Given the description of an element on the screen output the (x, y) to click on. 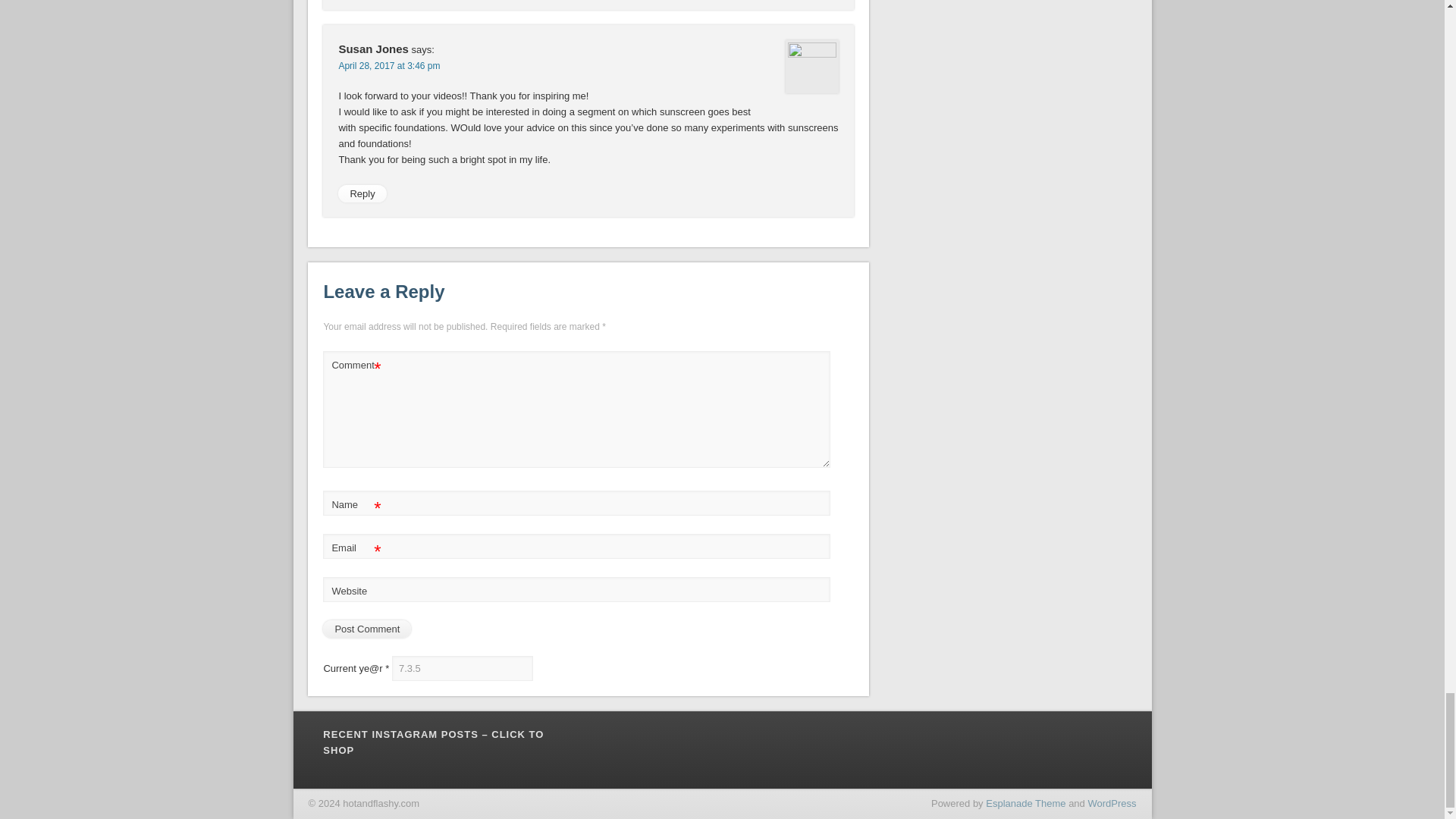
WordPress (1111, 803)
Esplanade Theme (1025, 803)
Post Comment (366, 628)
7.3.5 (461, 668)
